Given the description of an element on the screen output the (x, y) to click on. 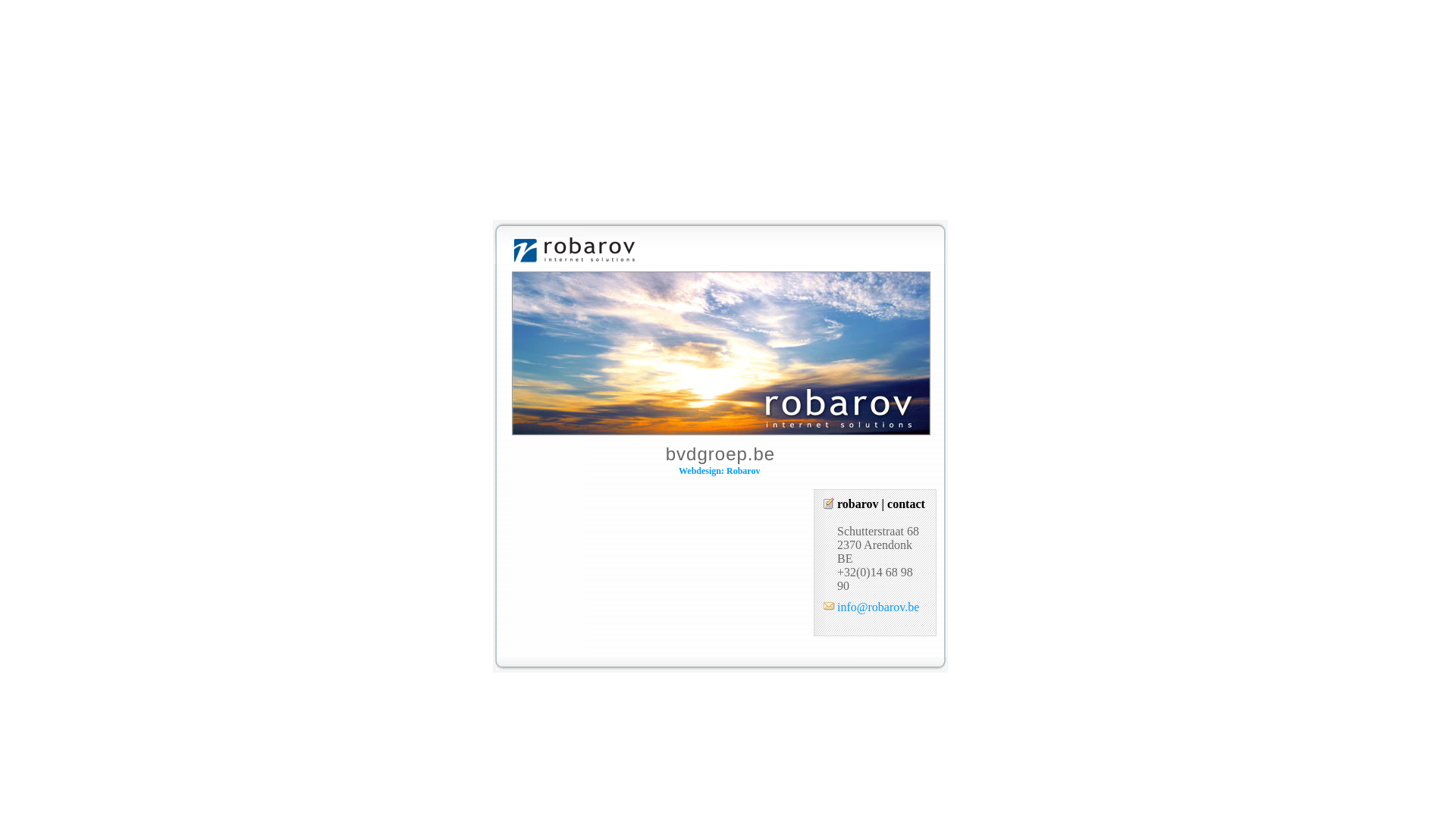
Webdesign: Robarov Element type: text (718, 470)
info@robarov.be Element type: text (878, 606)
